Given the description of an element on the screen output the (x, y) to click on. 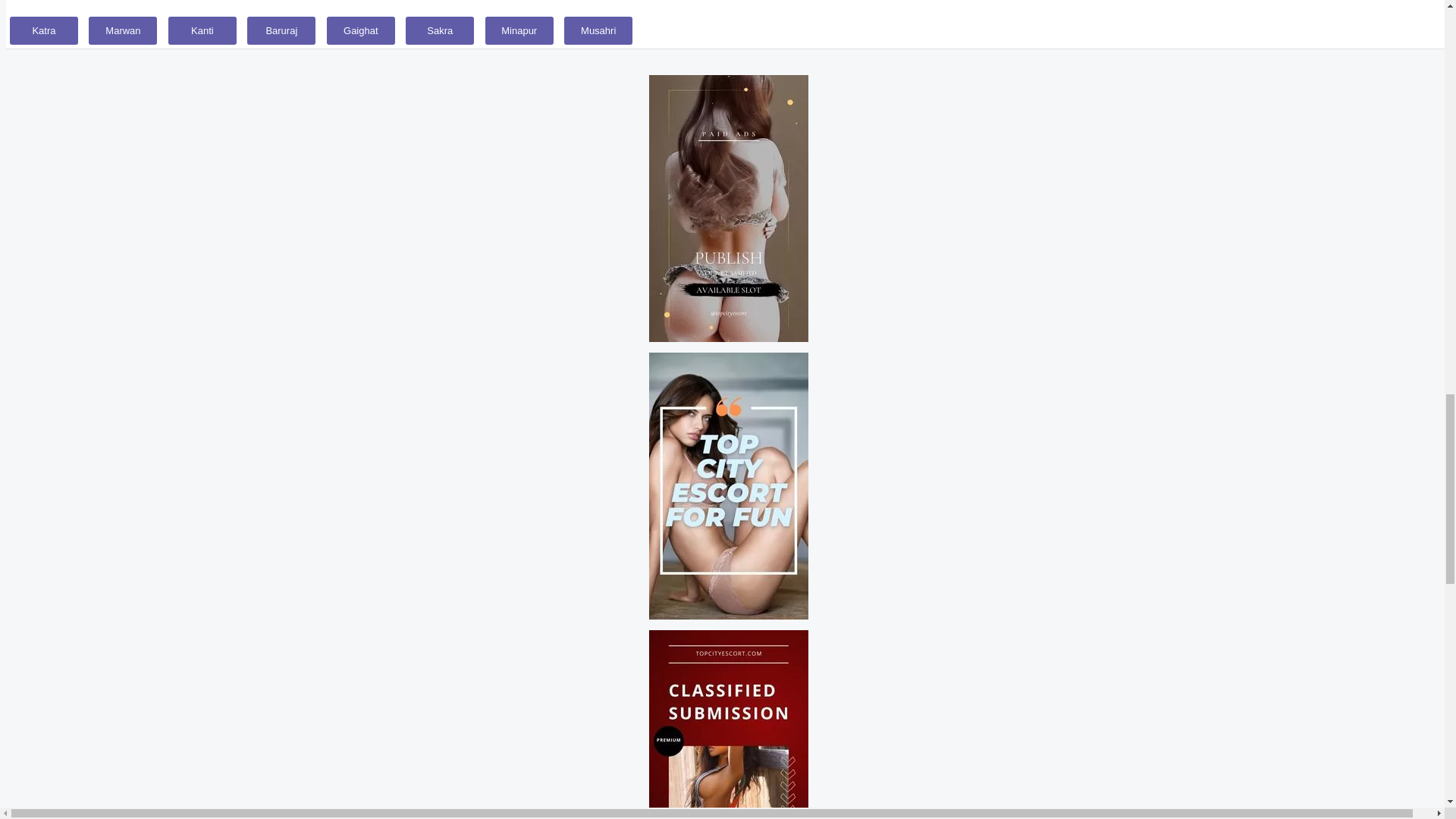
Kanti (201, 30)
Sakra (440, 30)
Baruraj (281, 30)
Minapur (518, 30)
Gaighat (360, 30)
Musahri (597, 30)
Marwan (122, 30)
Katra (44, 30)
